Given the description of an element on the screen output the (x, y) to click on. 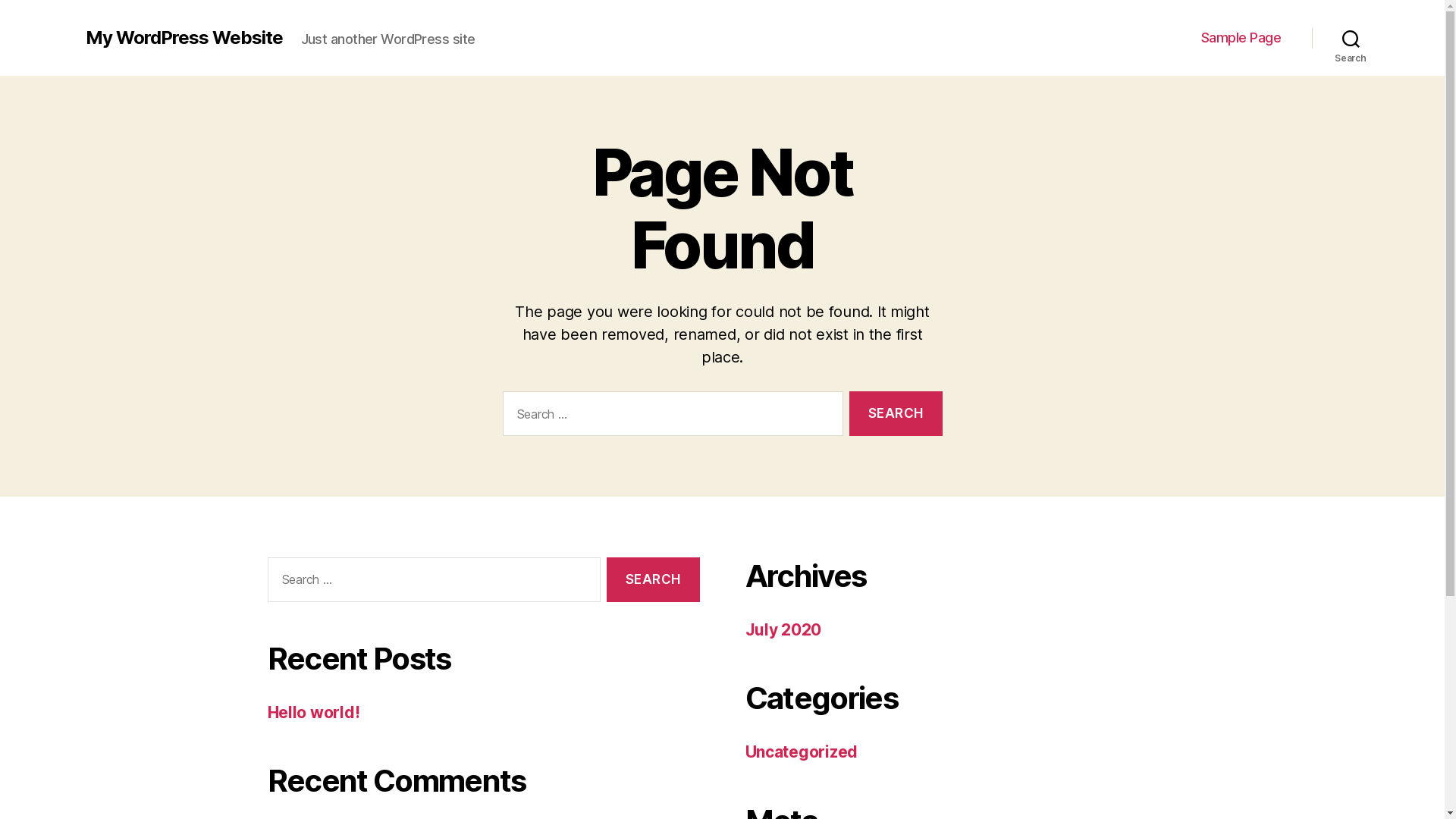
My WordPress Website Element type: text (183, 37)
Hello world! Element type: text (312, 711)
Search Element type: text (652, 579)
Search Element type: text (895, 413)
Sample Page Element type: text (1241, 37)
Search Element type: text (1350, 37)
Uncategorized Element type: text (800, 751)
July 2020 Element type: text (782, 629)
